Given the description of an element on the screen output the (x, y) to click on. 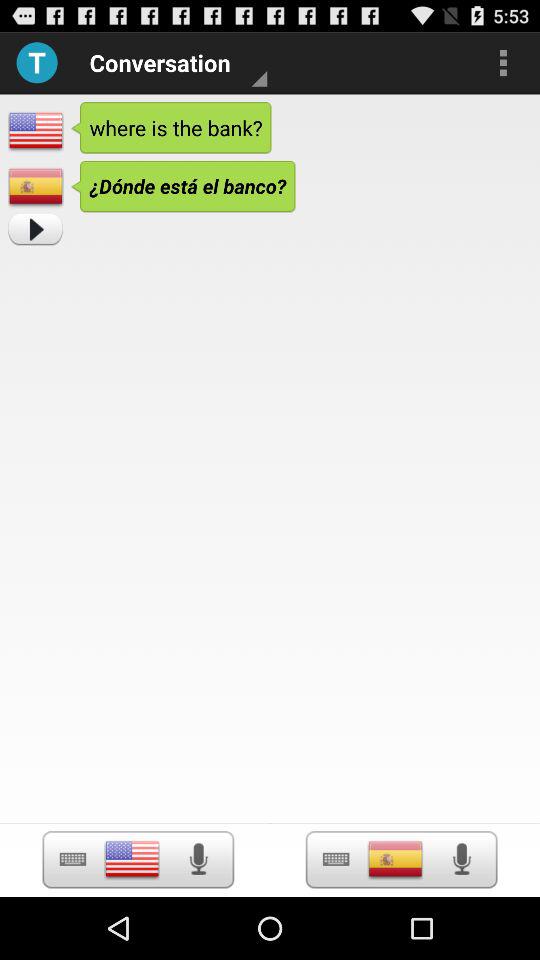
go next (35, 229)
